Given the description of an element on the screen output the (x, y) to click on. 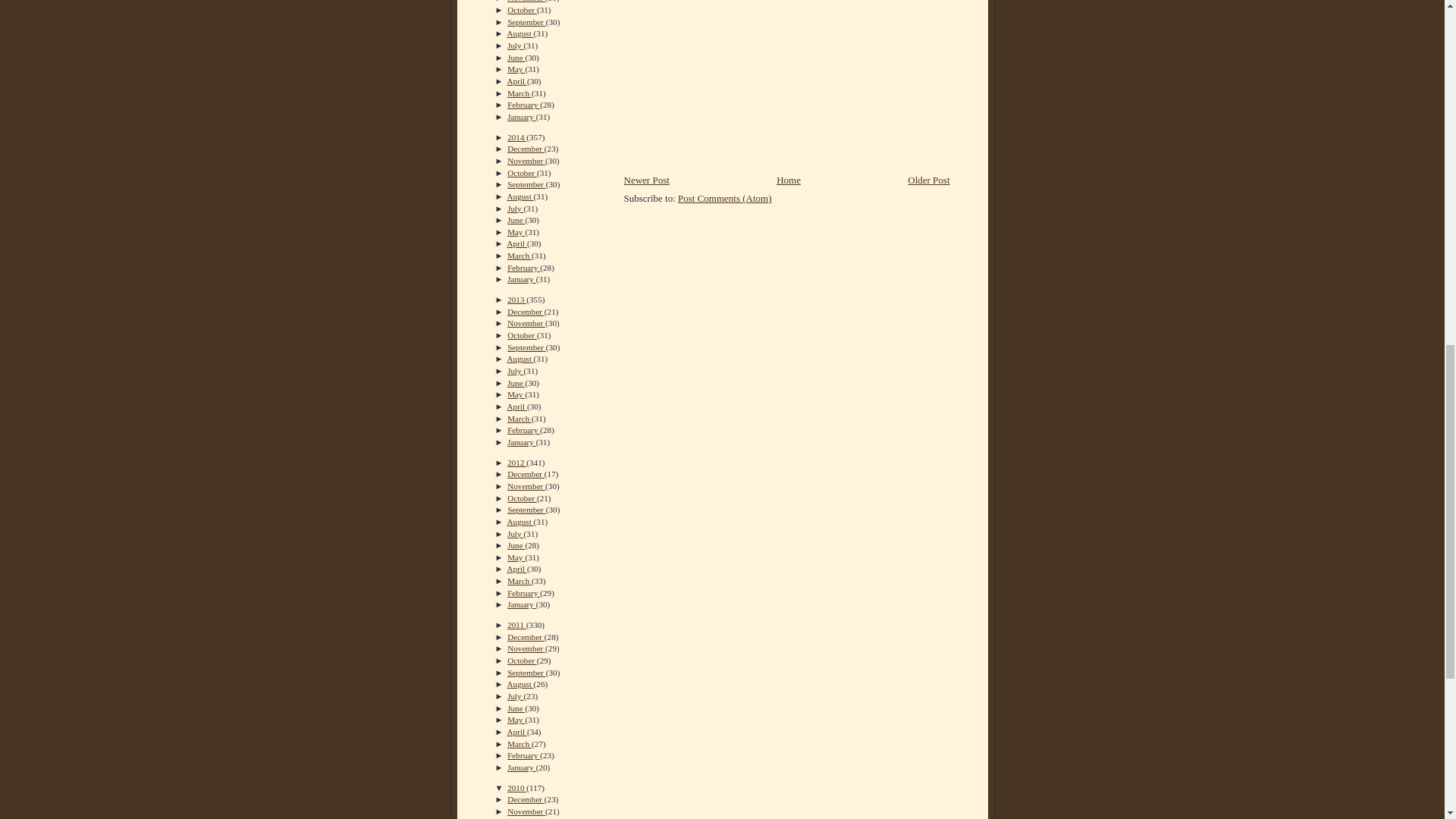
Newer Post (645, 179)
Older Post (928, 179)
